Given the description of an element on the screen output the (x, y) to click on. 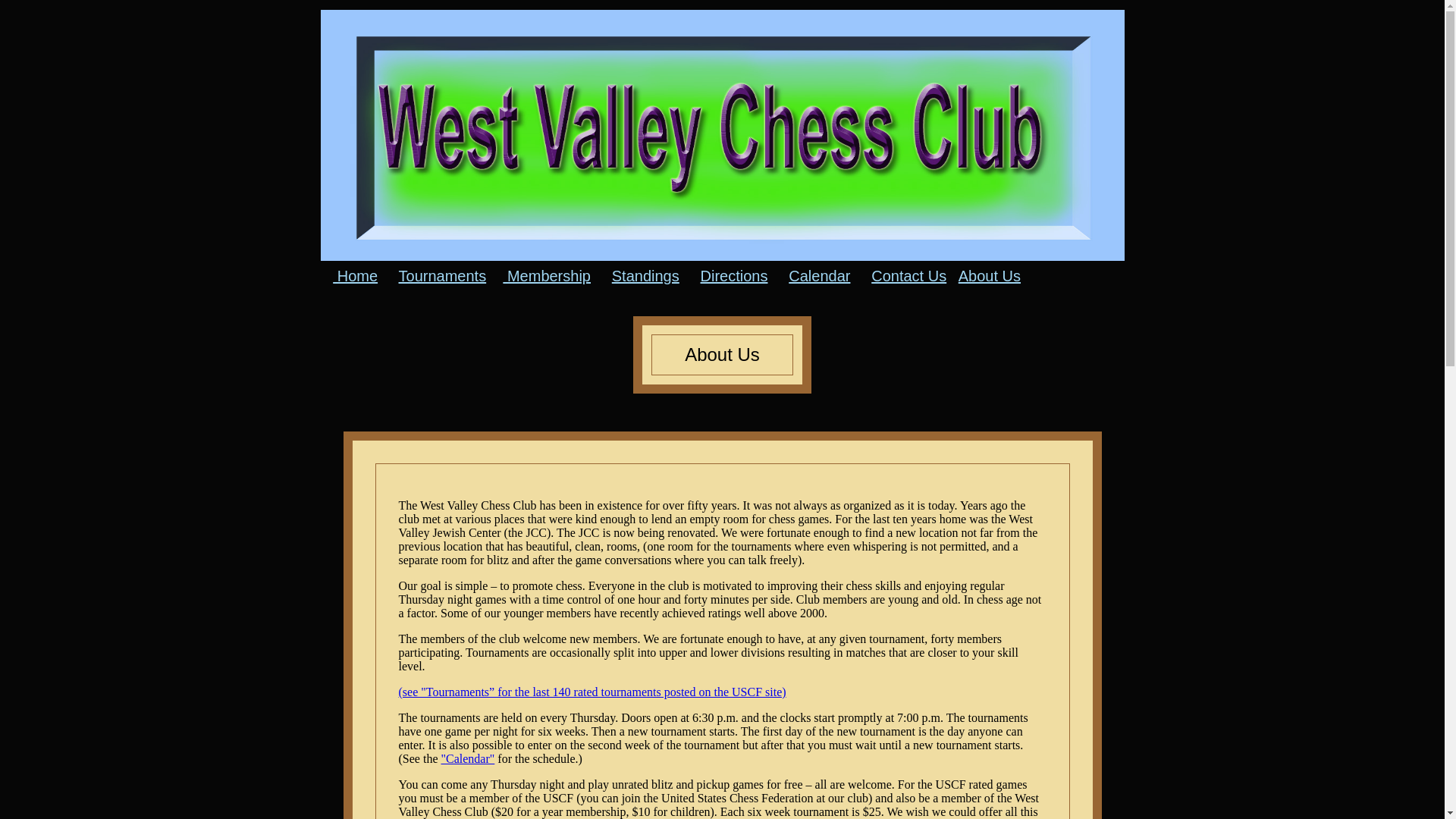
Home (355, 275)
Membership (546, 275)
Tournaments (442, 275)
Contact Us (908, 275)
Standings (645, 275)
Directions (734, 275)
"Calendar" (468, 758)
About Us (989, 275)
Calendar (819, 275)
